Given the description of an element on the screen output the (x, y) to click on. 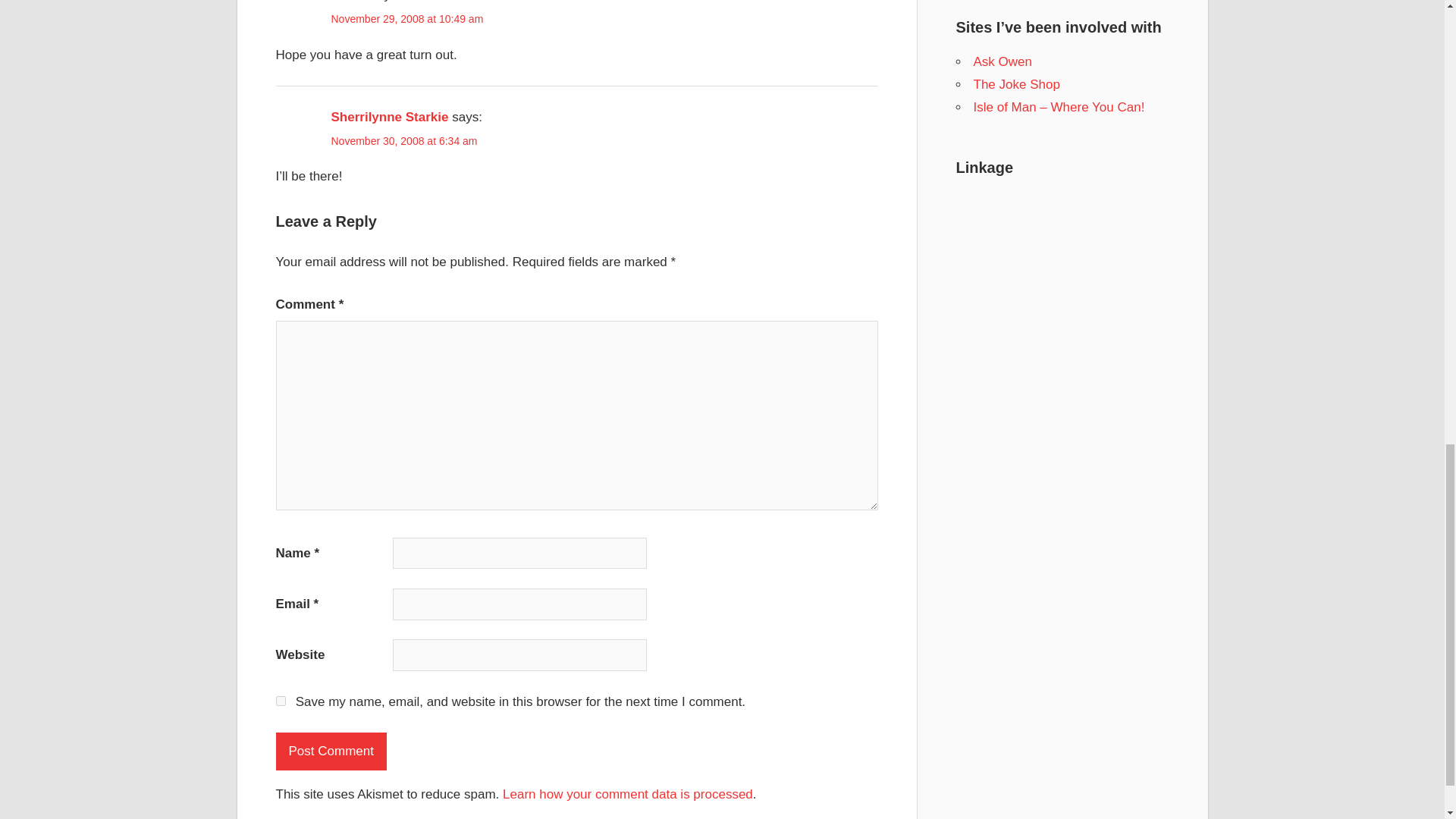
Sherrilynne Starkie (389, 116)
Ask Owen (1003, 61)
Post Comment (331, 751)
November 29, 2008 at 10:49 am (406, 19)
Learn how your comment data is processed (627, 794)
yes (280, 700)
The Joke Shop (1016, 83)
Post Comment (331, 751)
November 30, 2008 at 6:34 am (403, 141)
NIX74 (348, 1)
